Given the description of an element on the screen output the (x, y) to click on. 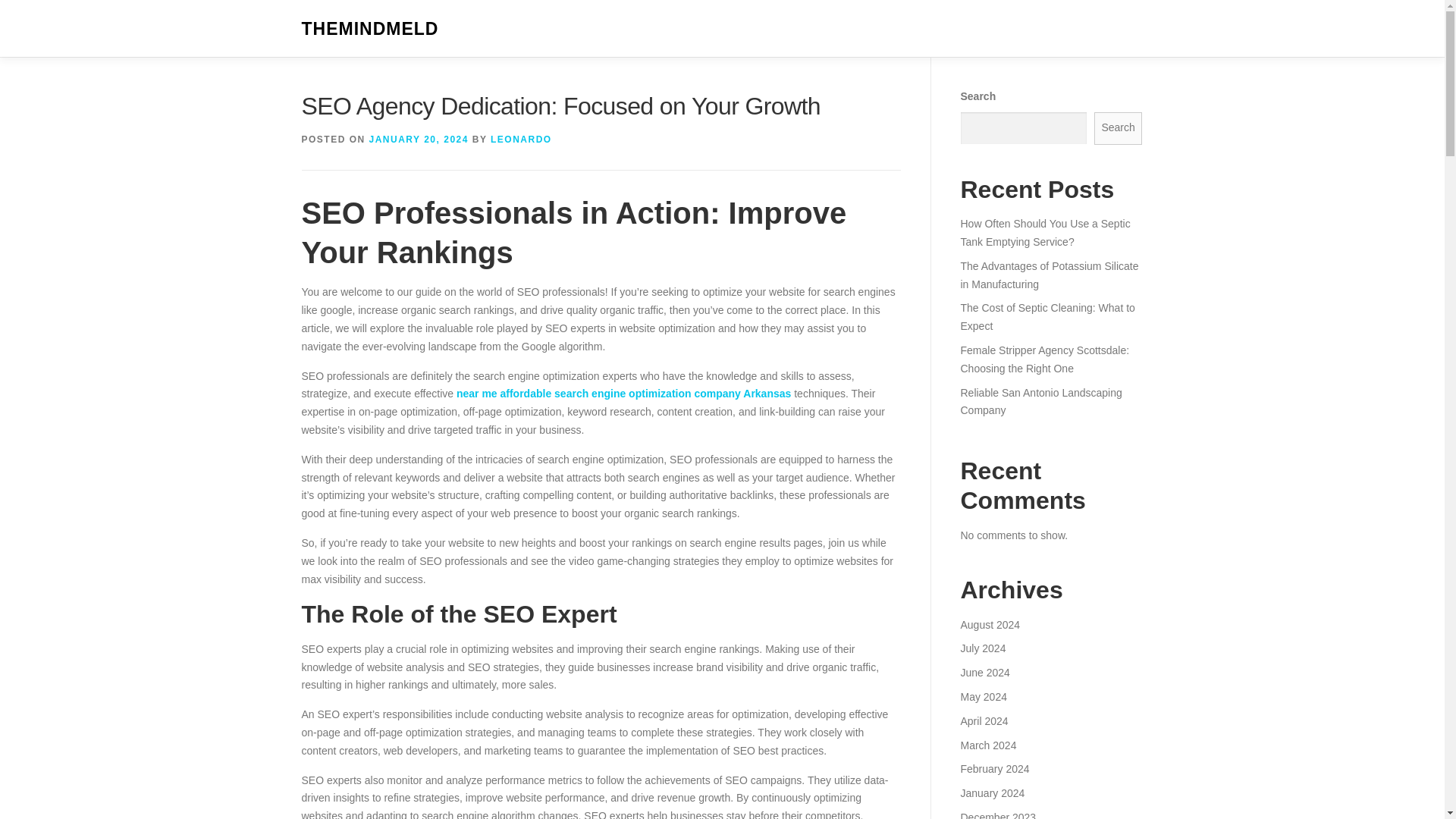
The Cost of Septic Cleaning: What to Expect (1046, 317)
June 2024 (984, 672)
Reliable San Antonio Landscaping Company (1040, 401)
March 2024 (987, 744)
July 2024 (982, 648)
How Often Should You Use a Septic Tank Emptying Service? (1044, 232)
Search (1118, 128)
JANUARY 20, 2024 (418, 139)
December 2023 (997, 815)
THEMINDMELD (370, 29)
